Given the description of an element on the screen output the (x, y) to click on. 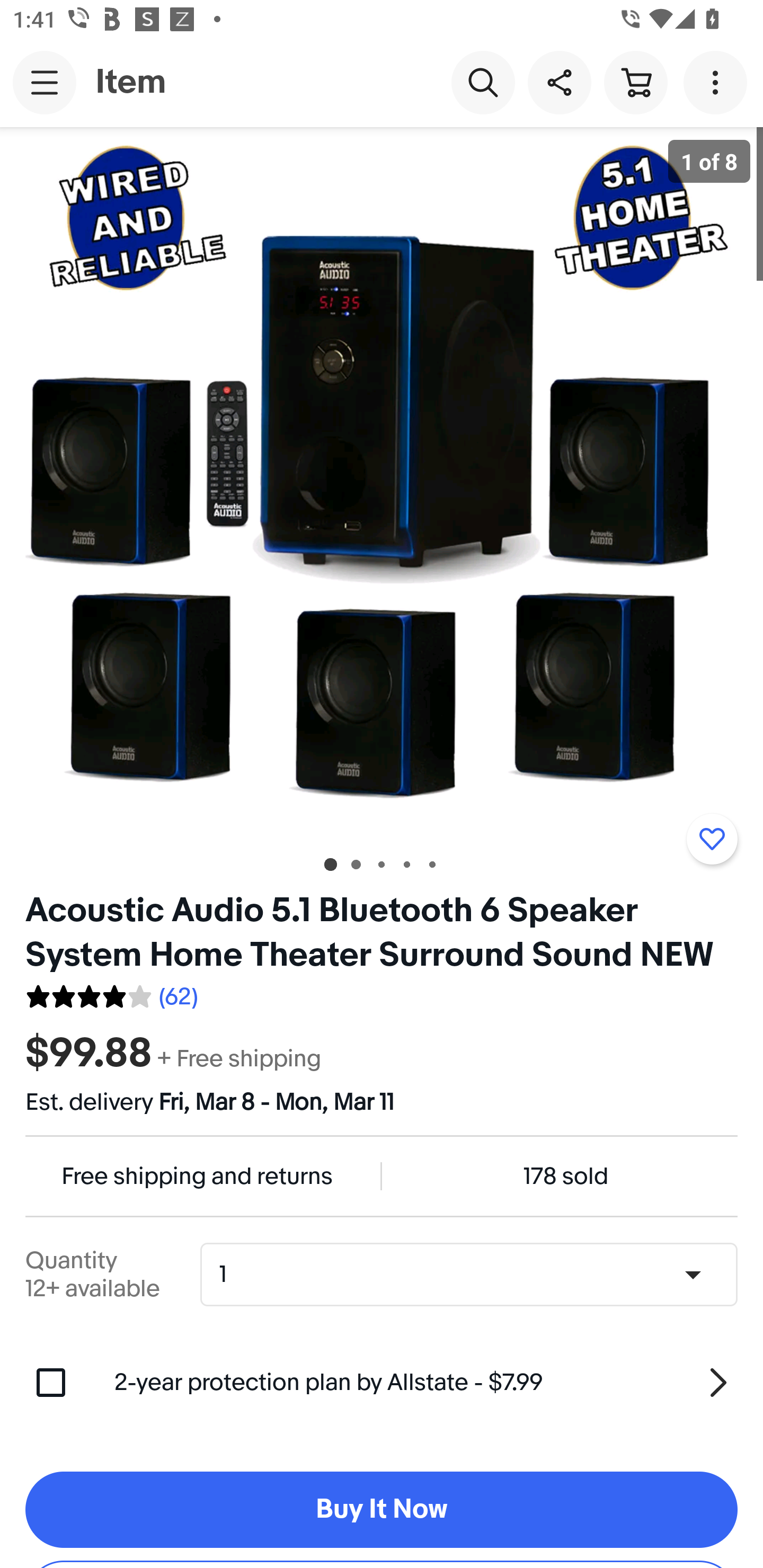
Main navigation, open (44, 82)
Search (482, 81)
Share this item (559, 81)
Cart button shopping cart (635, 81)
More options (718, 81)
Item image 1 of 8 (381, 482)
Add to watchlist (711, 838)
Quantity,1,12+ available 1 (474, 1274)
2-year protection plan by Allstate - $7.99 (425, 1382)
Buy It Now (381, 1509)
